Given the description of an element on the screen output the (x, y) to click on. 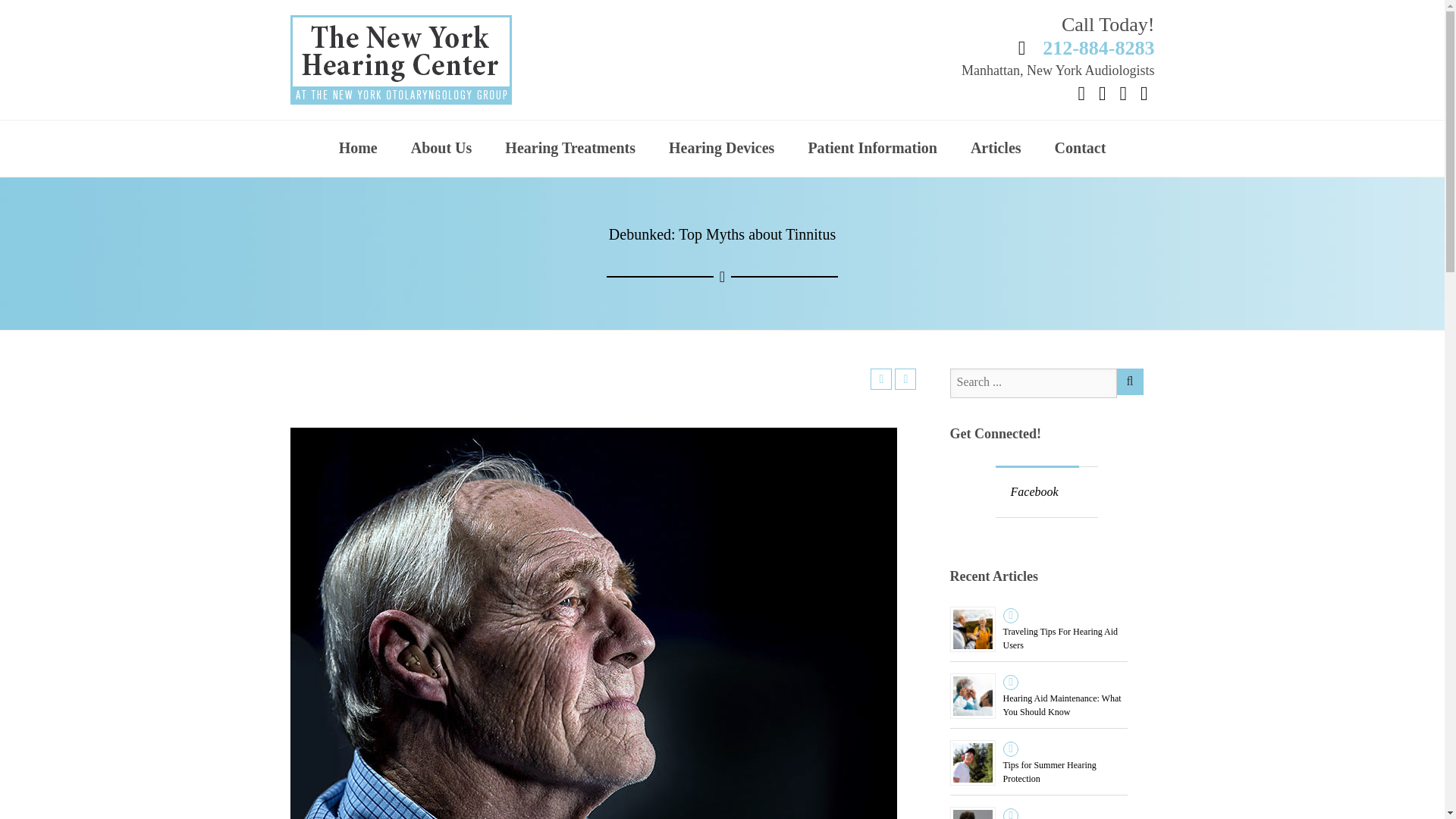
Hearing Devices (721, 148)
Contact (1080, 148)
Patient Information (872, 148)
About Us (441, 148)
The NY Hearing Center (433, 59)
Hearing Treatments (569, 148)
Articles (995, 148)
Home (358, 148)
